Given the description of an element on the screen output the (x, y) to click on. 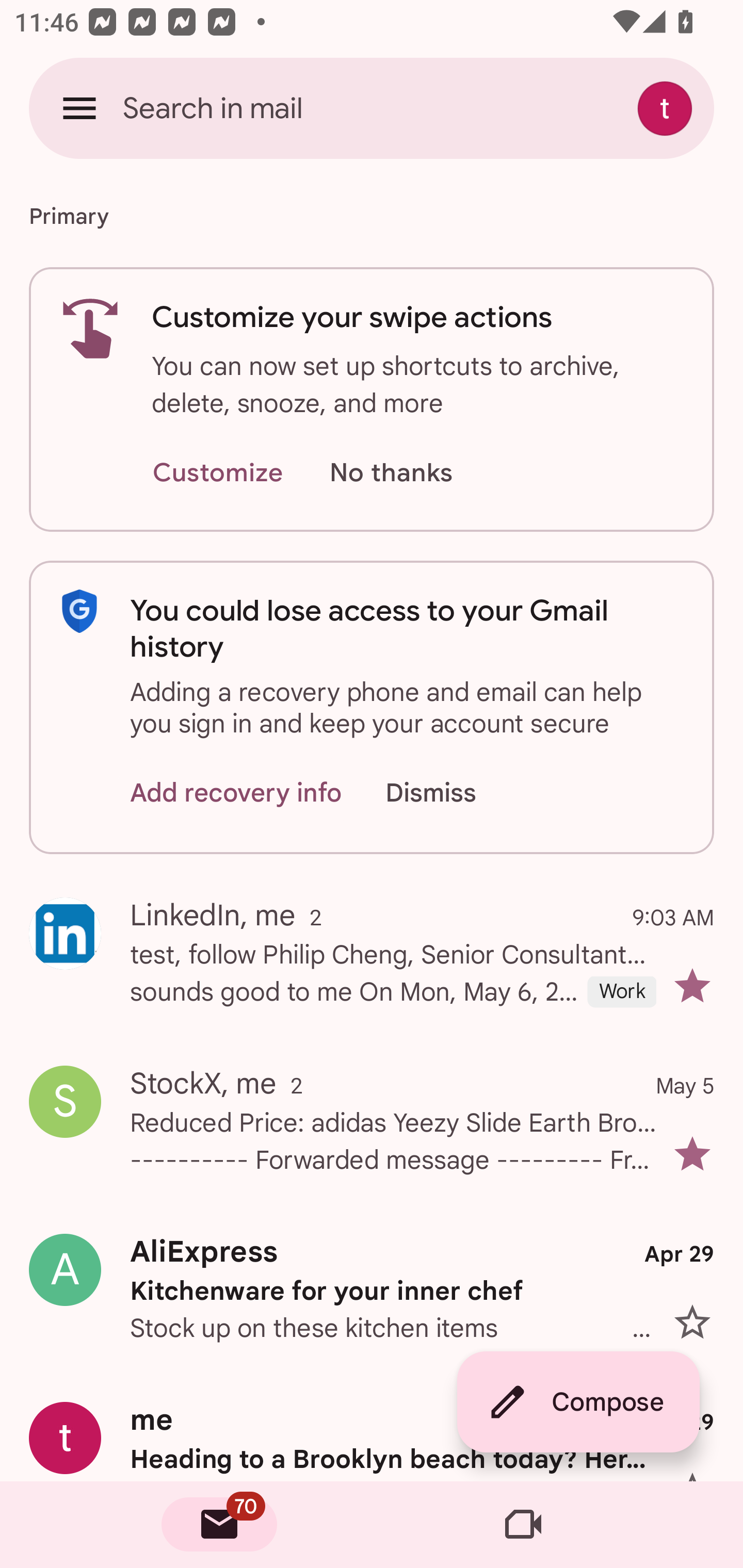
Open navigation drawer (79, 108)
Customize (217, 473)
No thanks (390, 473)
Add recovery info (235, 792)
Dismiss (449, 792)
Compose (577, 1401)
Meet (523, 1524)
